Given the description of an element on the screen output the (x, y) to click on. 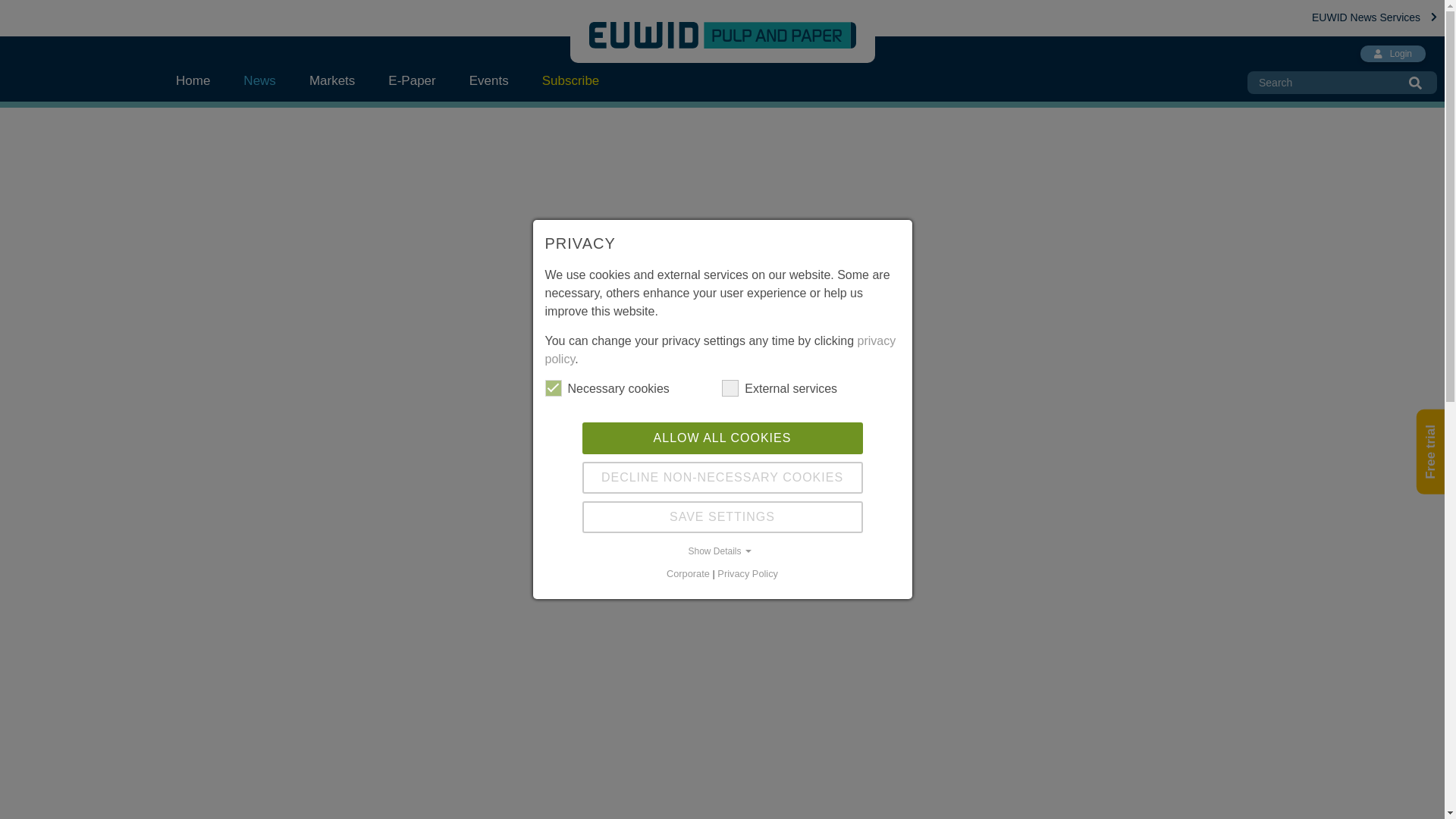
Markets (331, 80)
Home (201, 80)
EUWID News Services (1374, 17)
Subscribe (570, 80)
E-Paper (411, 80)
Login (1392, 53)
News (259, 80)
Events (488, 80)
